Given the description of an element on the screen output the (x, y) to click on. 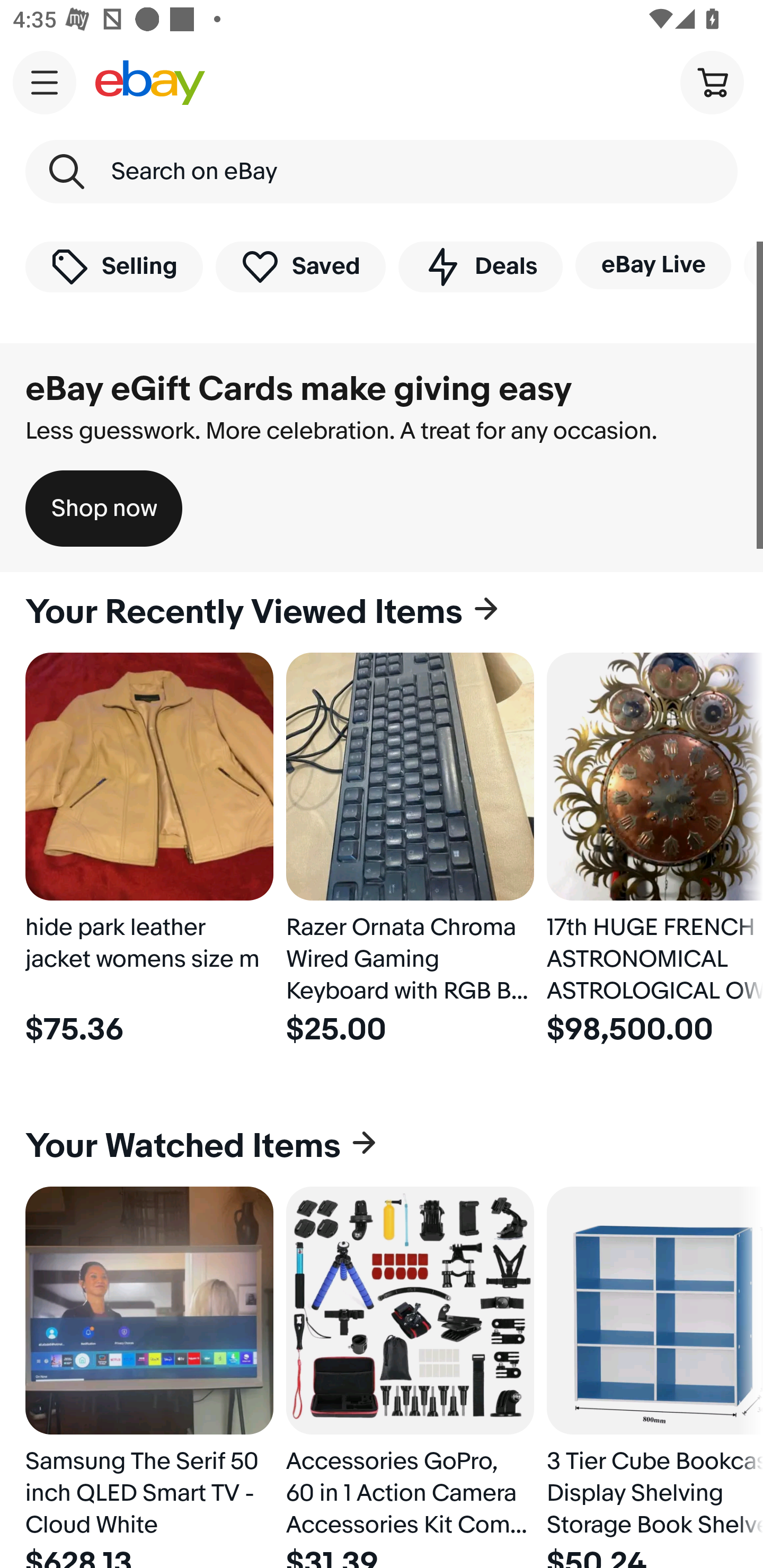
Main navigation, open (44, 82)
Cart button shopping cart (711, 81)
Search on eBay Search Keyword Search on eBay (381, 171)
Selling (113, 266)
Saved (300, 266)
Deals (480, 266)
eBay Live (652, 264)
eBay eGift Cards make giving easy (298, 389)
Shop now (103, 508)
Your Recently Viewed Items   (381, 612)
Your Watched Items   (381, 1145)
